Given the description of an element on the screen output the (x, y) to click on. 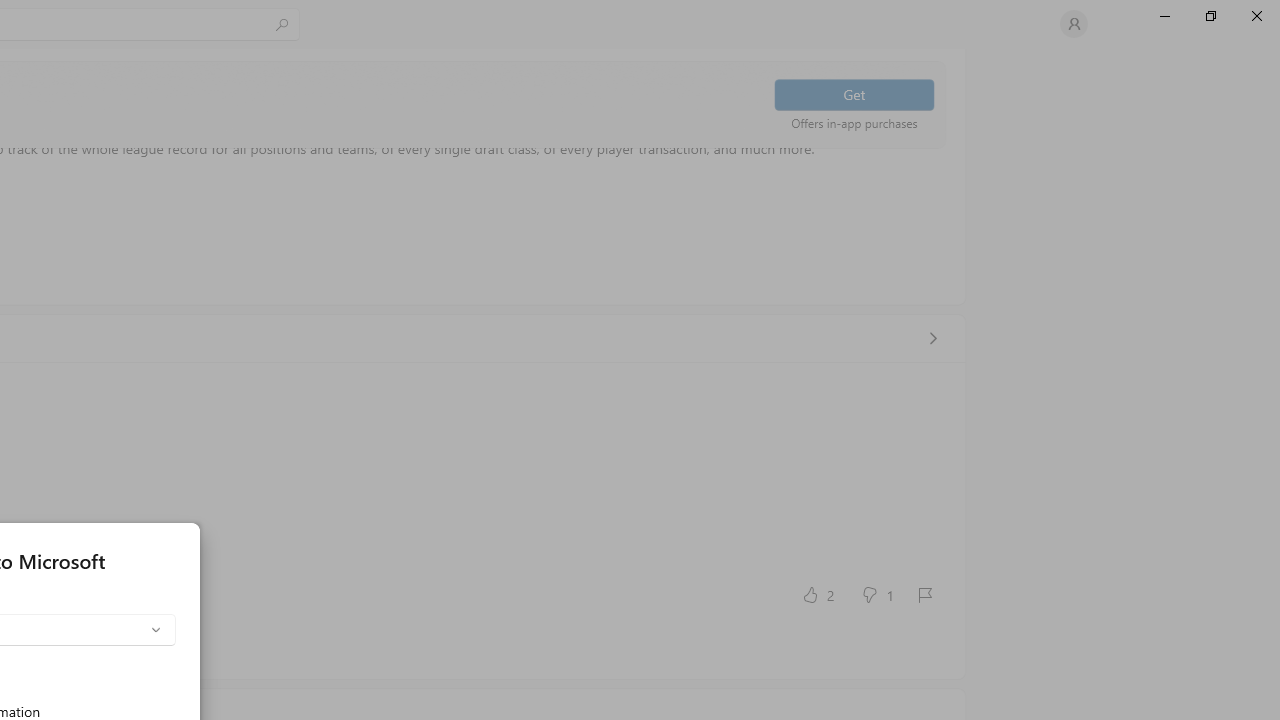
Show all ratings and reviews (932, 337)
Yes, this was helpful. 2 votes. (816, 593)
Get (854, 94)
No, this was not helpful. 1 votes. (875, 593)
Report review (924, 594)
